Given the description of an element on the screen output the (x, y) to click on. 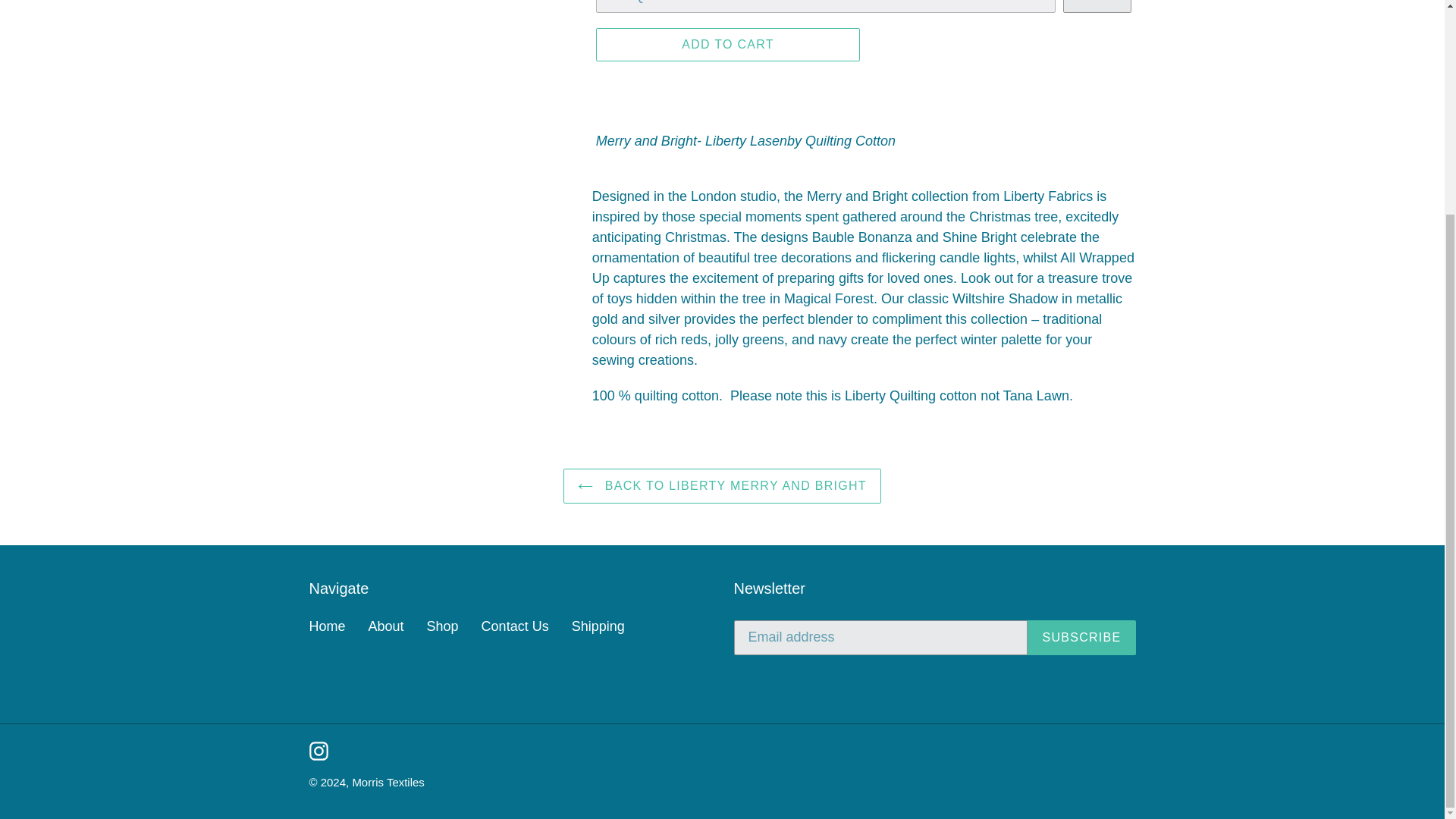
1 (1096, 6)
Home (327, 626)
Instagram (318, 750)
Shipping (598, 626)
SUBSCRIBE (1081, 637)
BACK TO LIBERTY MERRY AND BRIGHT (721, 485)
Shop (442, 626)
ADD TO CART (727, 44)
About (386, 626)
Morris Textiles (387, 781)
